Given the description of an element on the screen output the (x, y) to click on. 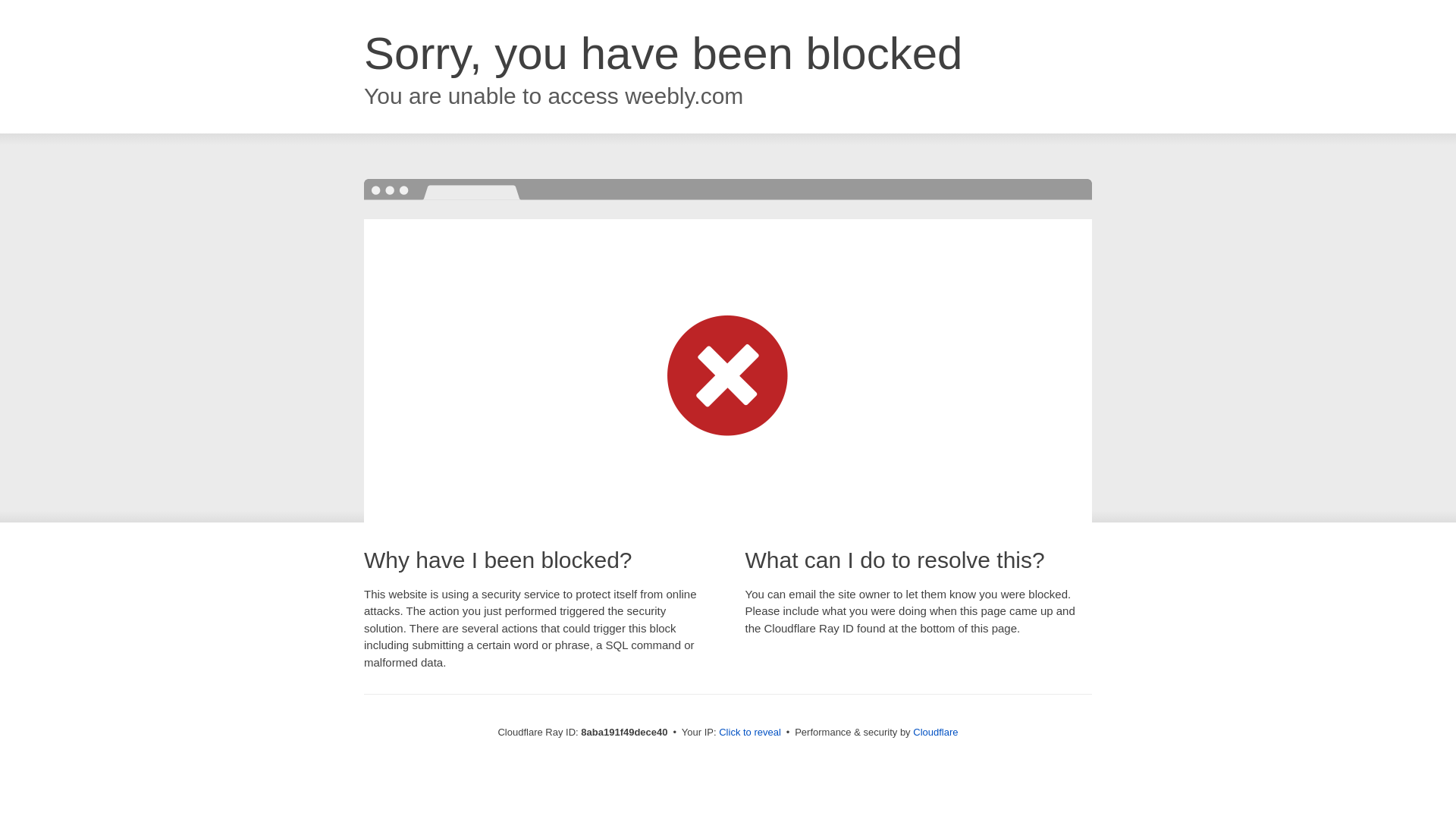
Click to reveal (749, 732)
Cloudflare (935, 731)
